Given the description of an element on the screen output the (x, y) to click on. 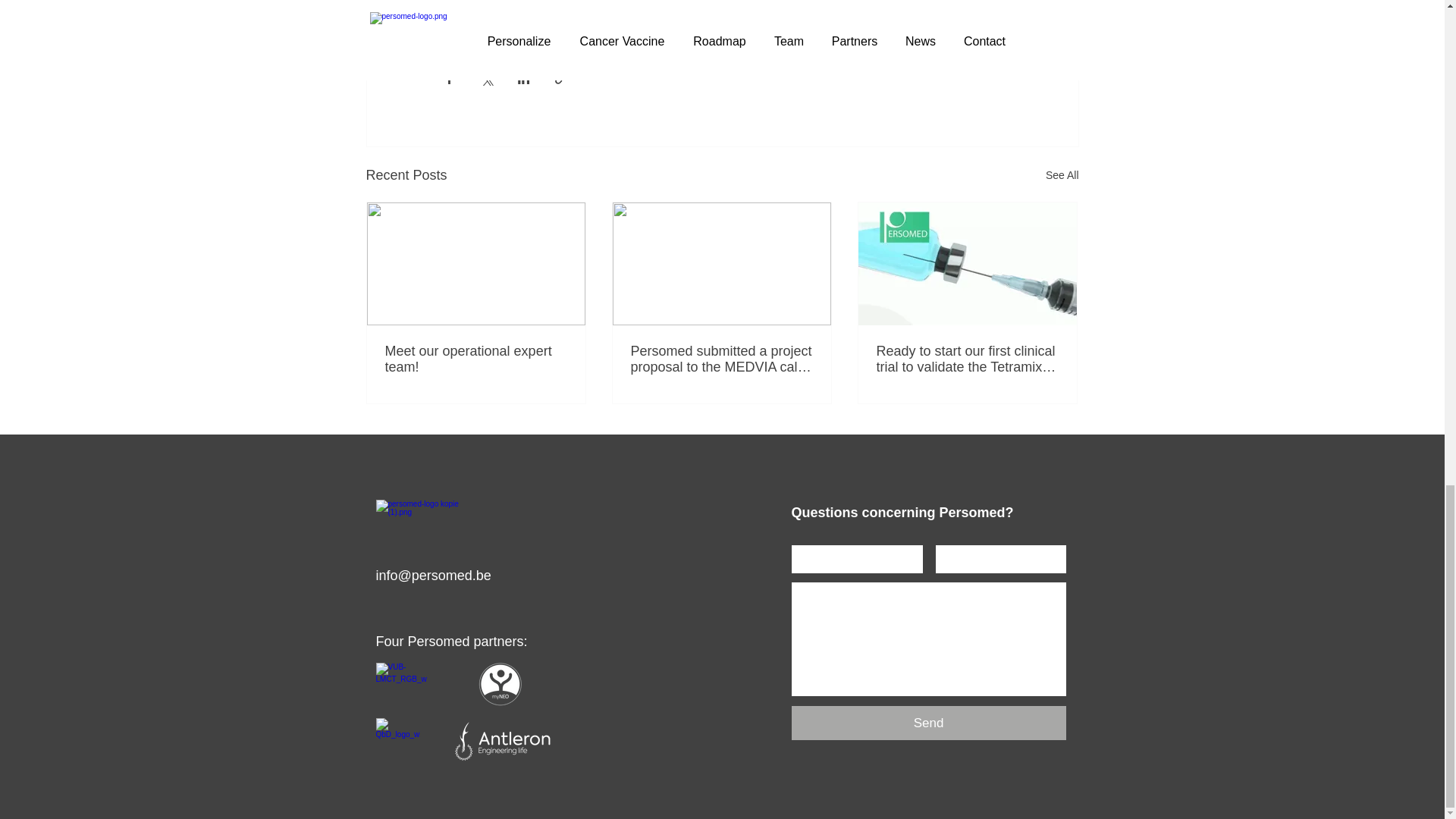
See All (1061, 175)
Meet our operational expert team! (476, 359)
Send (928, 722)
